Given the description of an element on the screen output the (x, y) to click on. 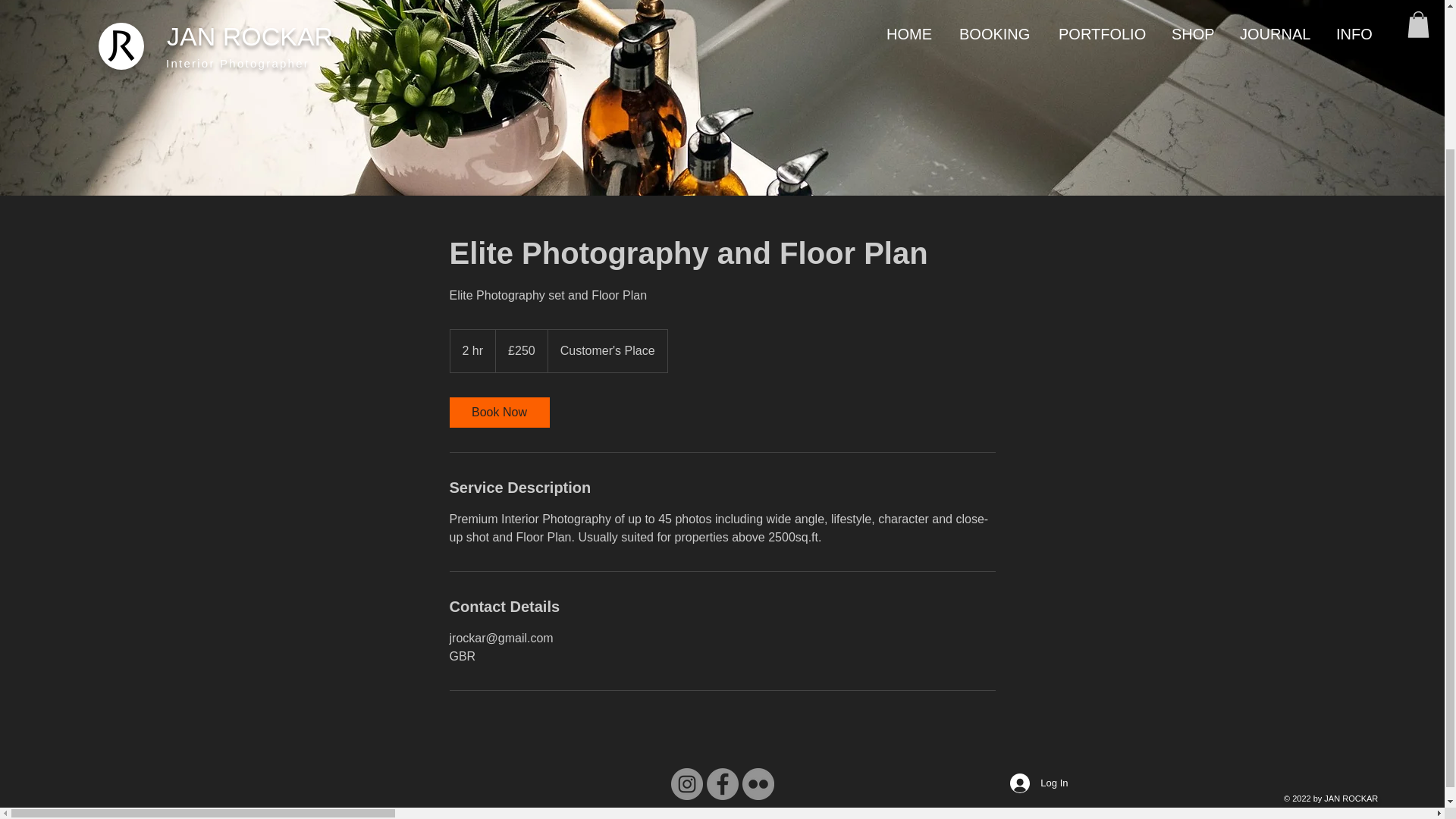
Book Now (498, 412)
Log In (1038, 608)
